Given the description of an element on the screen output the (x, y) to click on. 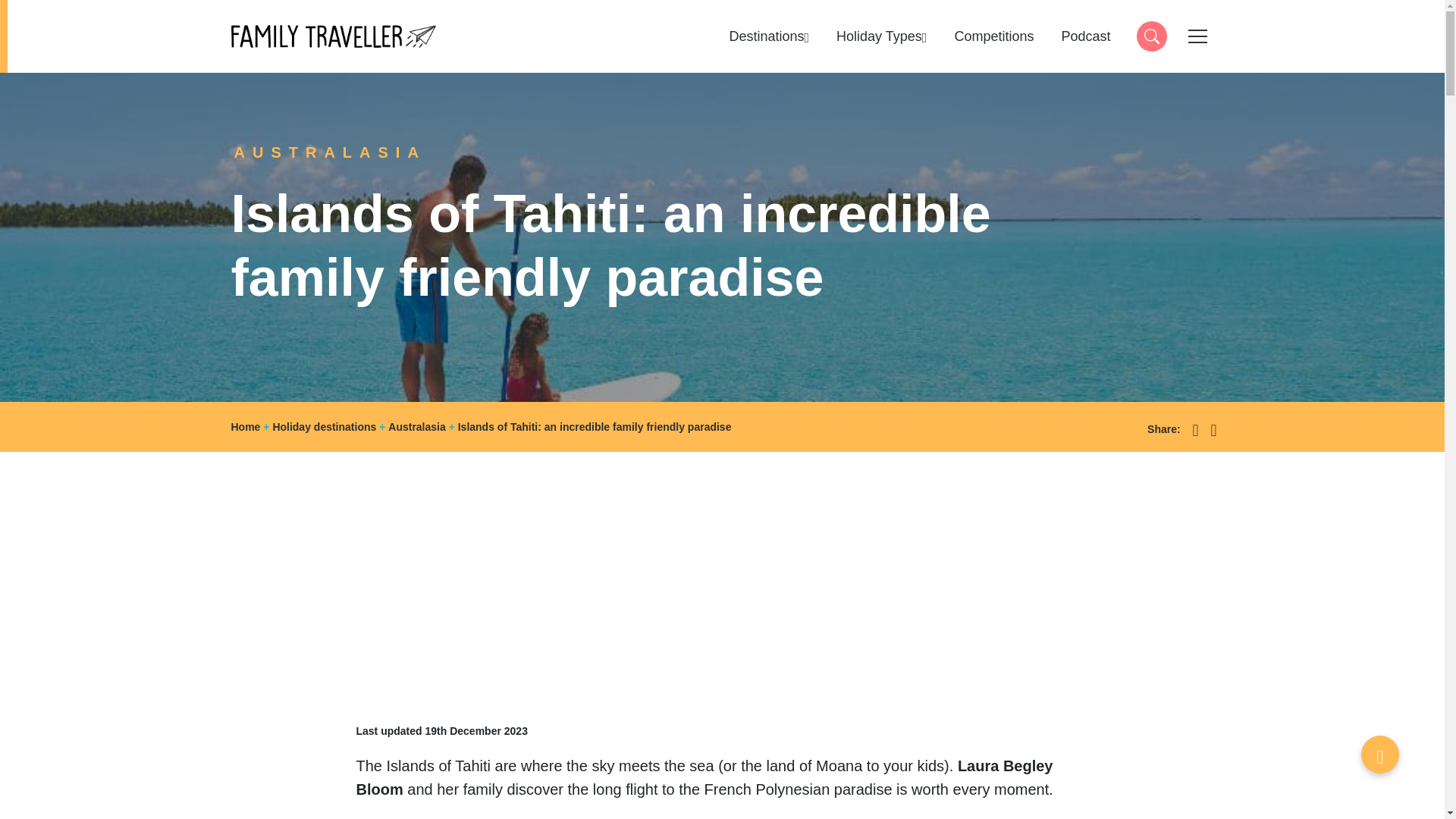
Competitions (993, 36)
Destinations (768, 36)
Holiday Types (881, 36)
Search anything... (332, 36)
Podcast (1150, 36)
